Given the description of an element on the screen output the (x, y) to click on. 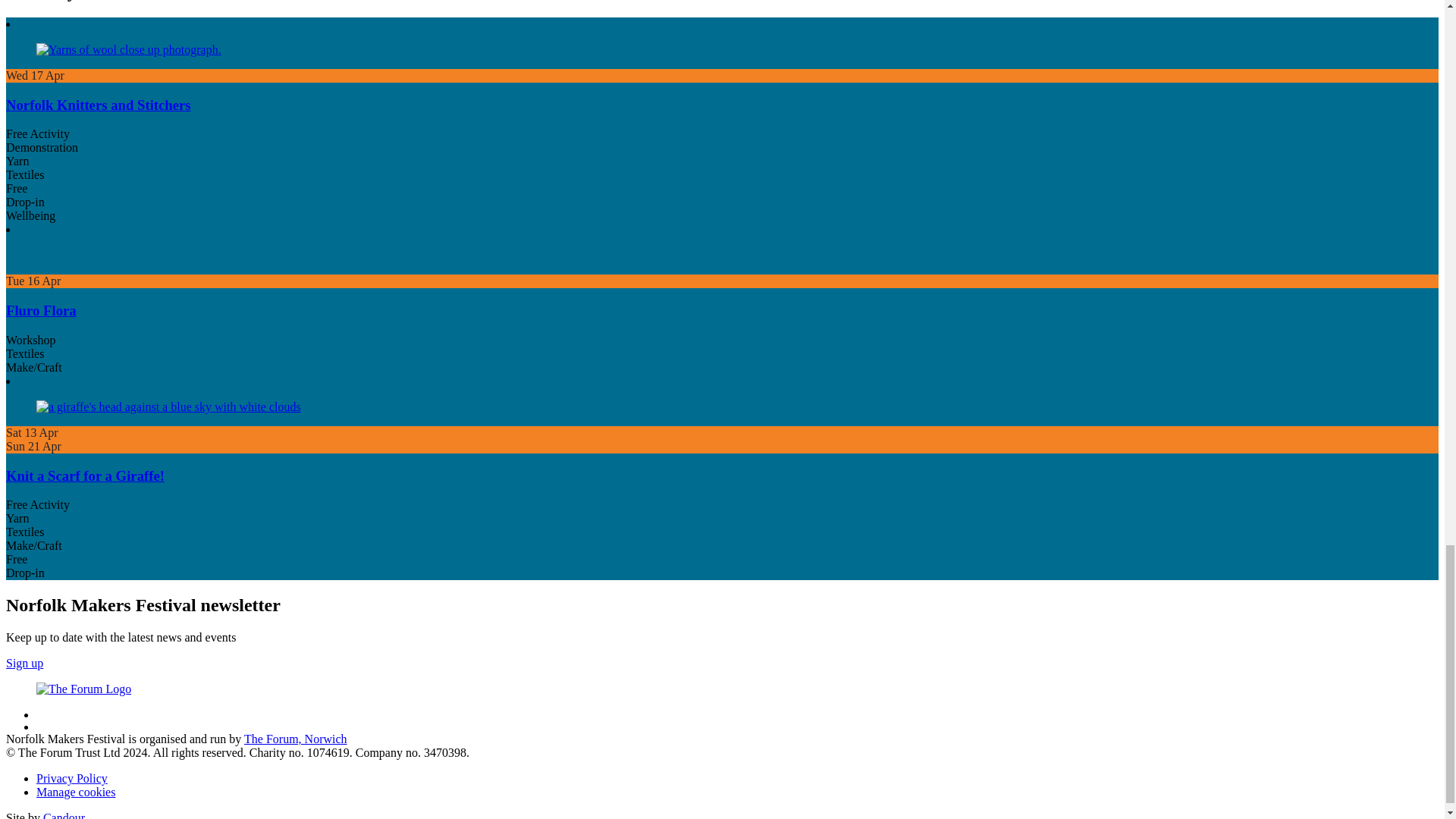
Norfolk Knitters and Stitchers (97, 105)
17-04-2024 10:00 (34, 74)
16-04-2024 13:00 (33, 280)
13-04-2024 10:00 (31, 431)
Fluro Flora (41, 310)
